Given the description of an element on the screen output the (x, y) to click on. 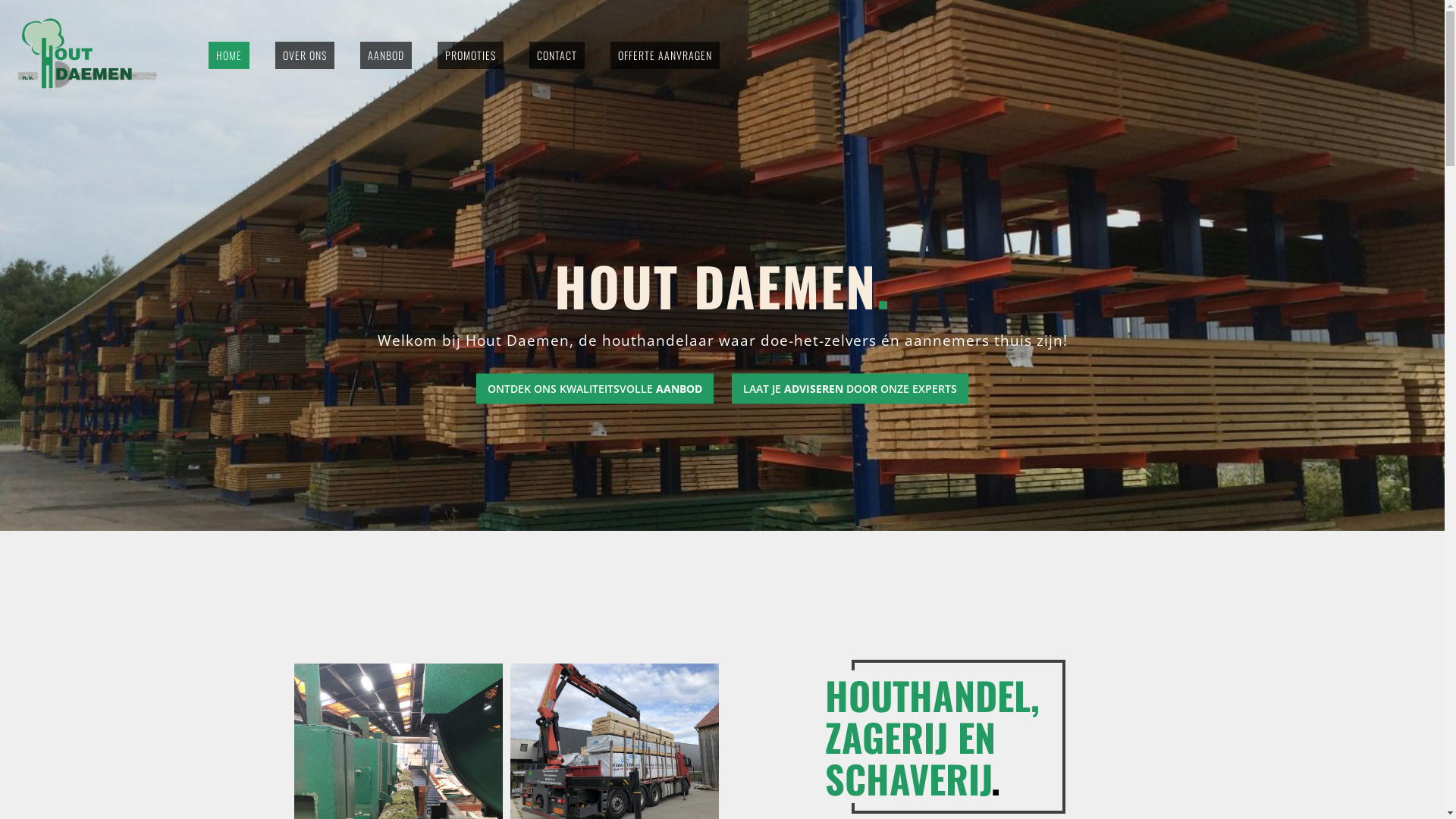
OFFERTE AANVRAGEN Element type: text (664, 55)
CONTACT Element type: text (556, 55)
ONTDEK ONS KWALITEITSVOLLE AANBOD Element type: text (594, 388)
Hout Daemen Element type: text (87, 52)
LAAT JE ADVISEREN DOOR ONZE EXPERTS Element type: text (849, 388)
PROMOTIES Element type: text (470, 55)
OVER ONS Element type: text (304, 55)
AANBOD Element type: text (385, 55)
HOME Element type: text (228, 55)
